Given the description of an element on the screen output the (x, y) to click on. 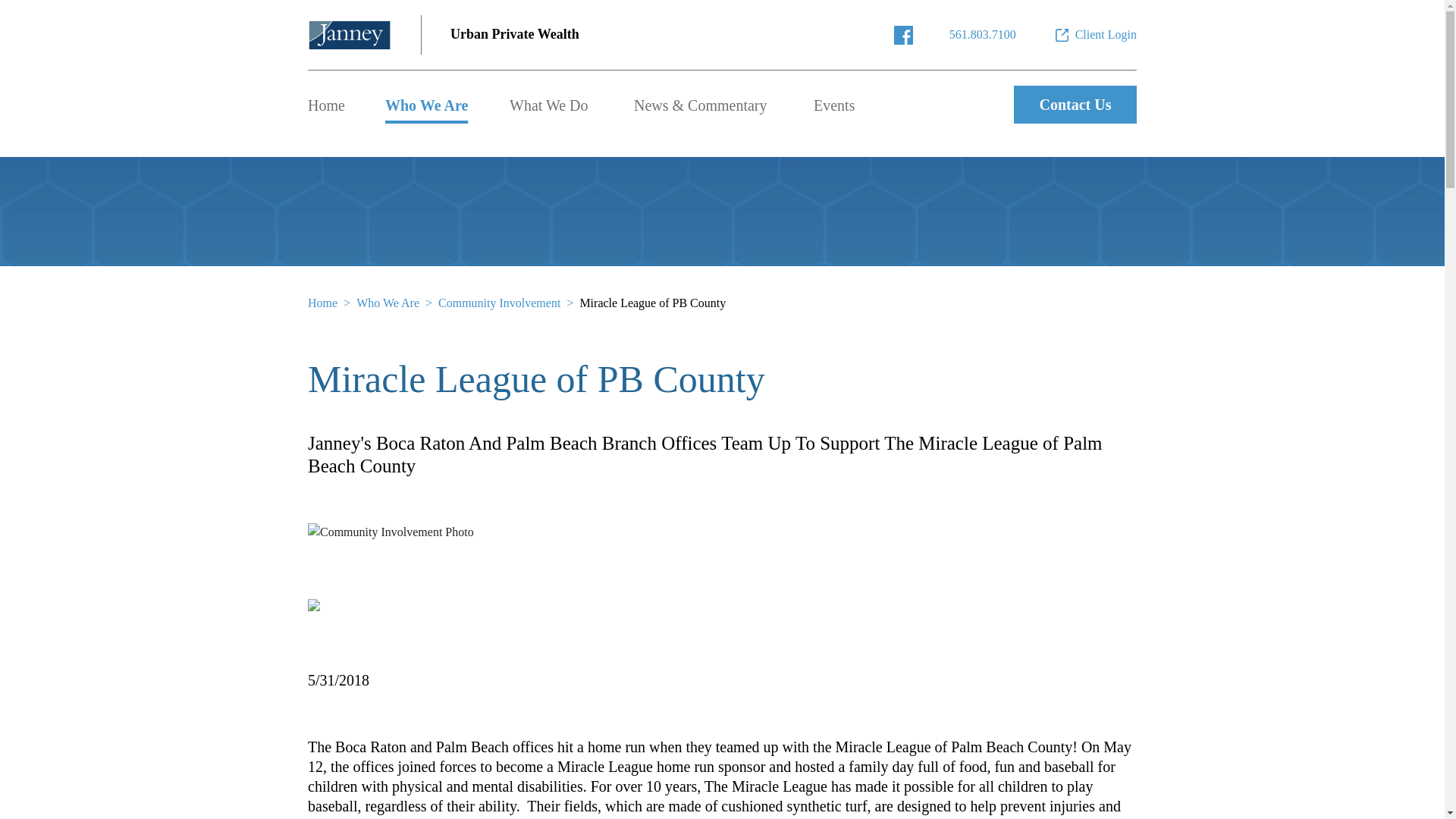
Contact Us (1075, 104)
Client Login (1094, 34)
janney-header-logo (349, 34)
client-login-link (1094, 34)
contact-link (982, 34)
Who We Are (426, 105)
Events (833, 105)
What We Do (548, 105)
Home (326, 105)
Urban Private Wealth (514, 34)
